Given the description of an element on the screen output the (x, y) to click on. 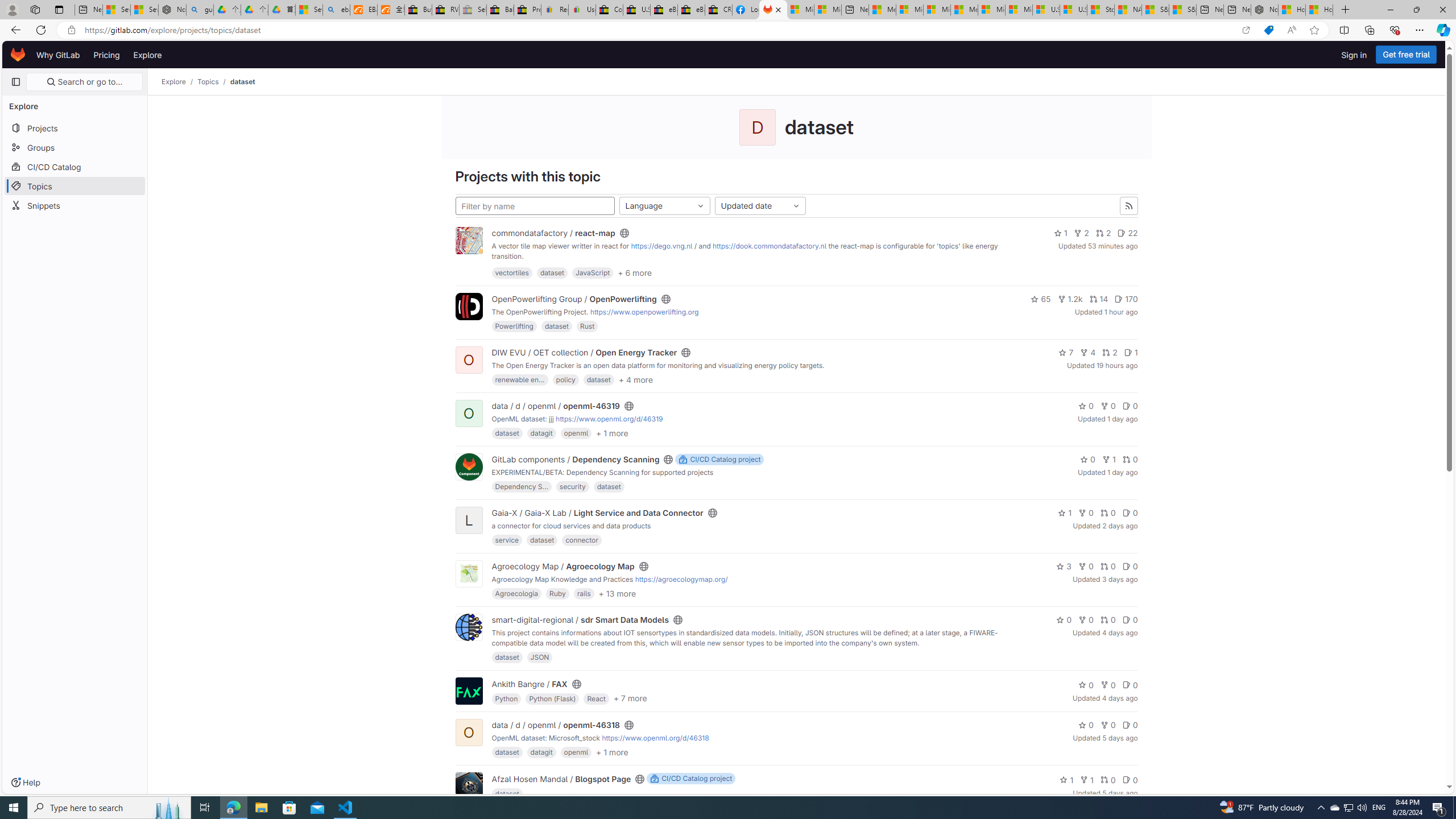
Close (1442, 9)
commondatafactory / react-map (553, 232)
Gaia-X / Gaia-X Lab / Light Service and Data Connector (597, 512)
Log into Facebook (746, 9)
2 (1110, 352)
1 (1086, 779)
User Privacy Notice | eBay (581, 9)
Ruby (557, 592)
https://www.openpowerlifting.org (643, 311)
https://dego.vng.nl (661, 245)
renewable en... (519, 379)
Copilot (Ctrl+Shift+.) (1442, 29)
Microsoft account | Privacy (909, 9)
View site information (70, 29)
